Given the description of an element on the screen output the (x, y) to click on. 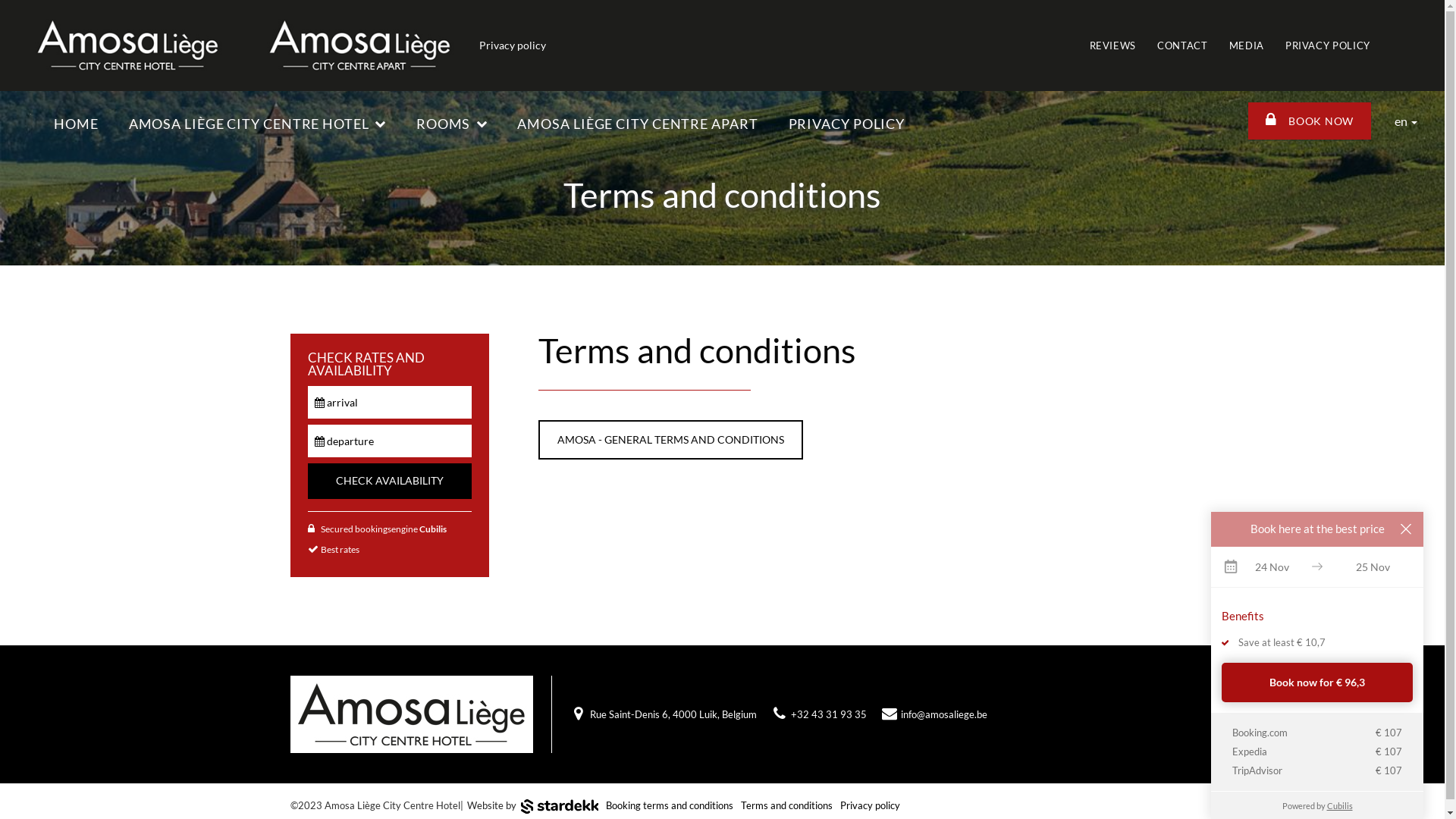
Privacy policy Element type: text (512, 45)
Terms and conditions Element type: text (786, 805)
Rue Saint-Denis 6, 4000 Luik, Belgium Element type: text (672, 714)
ROOMS Element type: text (451, 123)
info@amosaliege.be Element type: text (943, 714)
+32 43 31 93 35 Element type: text (828, 714)
Cubilis Element type: text (1339, 805)
REVIEWS Element type: text (1113, 45)
en Element type: text (1405, 120)
Cubilis Element type: text (431, 528)
Booking terms and conditions Element type: text (669, 805)
PRIVACY POLICY Element type: text (1327, 45)
BOOK NOW Element type: text (1309, 120)
HOME Element type: text (75, 123)
CONTACT Element type: text (1182, 45)
PRIVACY POLICY Element type: text (846, 123)
AMOSA - GENERAL TERMS AND CONDITIONS Element type: text (670, 439)
MEDIA Element type: text (1246, 45)
Privacy policy Element type: text (870, 805)
CHECK AVAILABILITY Element type: text (389, 480)
